Given the description of an element on the screen output the (x, y) to click on. 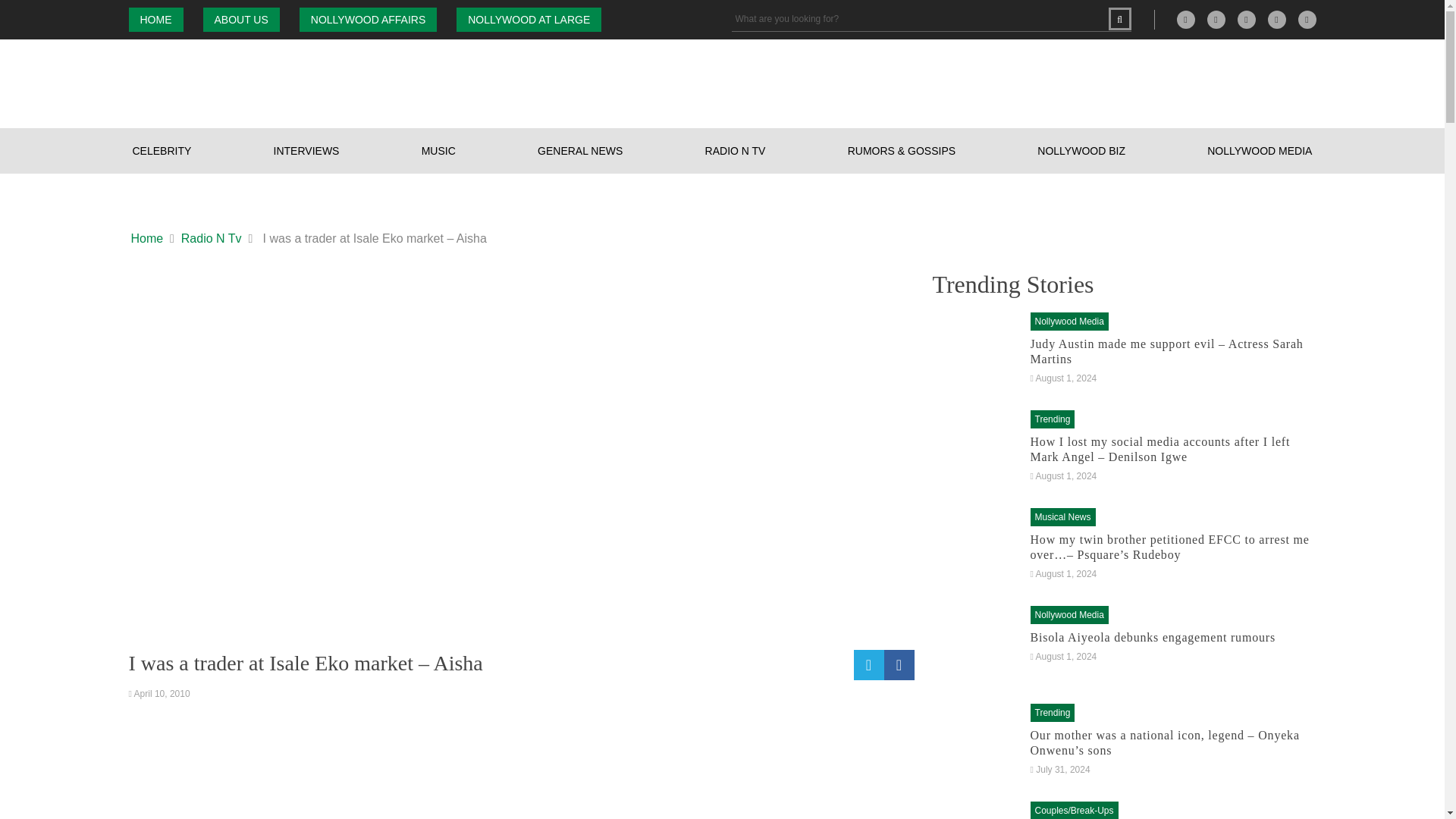
NOLLYWOOD AT LARGE (529, 19)
Twitter (1276, 19)
instagram (1246, 19)
CELEBRITY (162, 150)
ABOUT US (241, 19)
RADIO N TV (735, 150)
Facebook (1216, 19)
MUSIC (438, 150)
Search (1119, 18)
INTERVIEWS (306, 150)
